Given the description of an element on the screen output the (x, y) to click on. 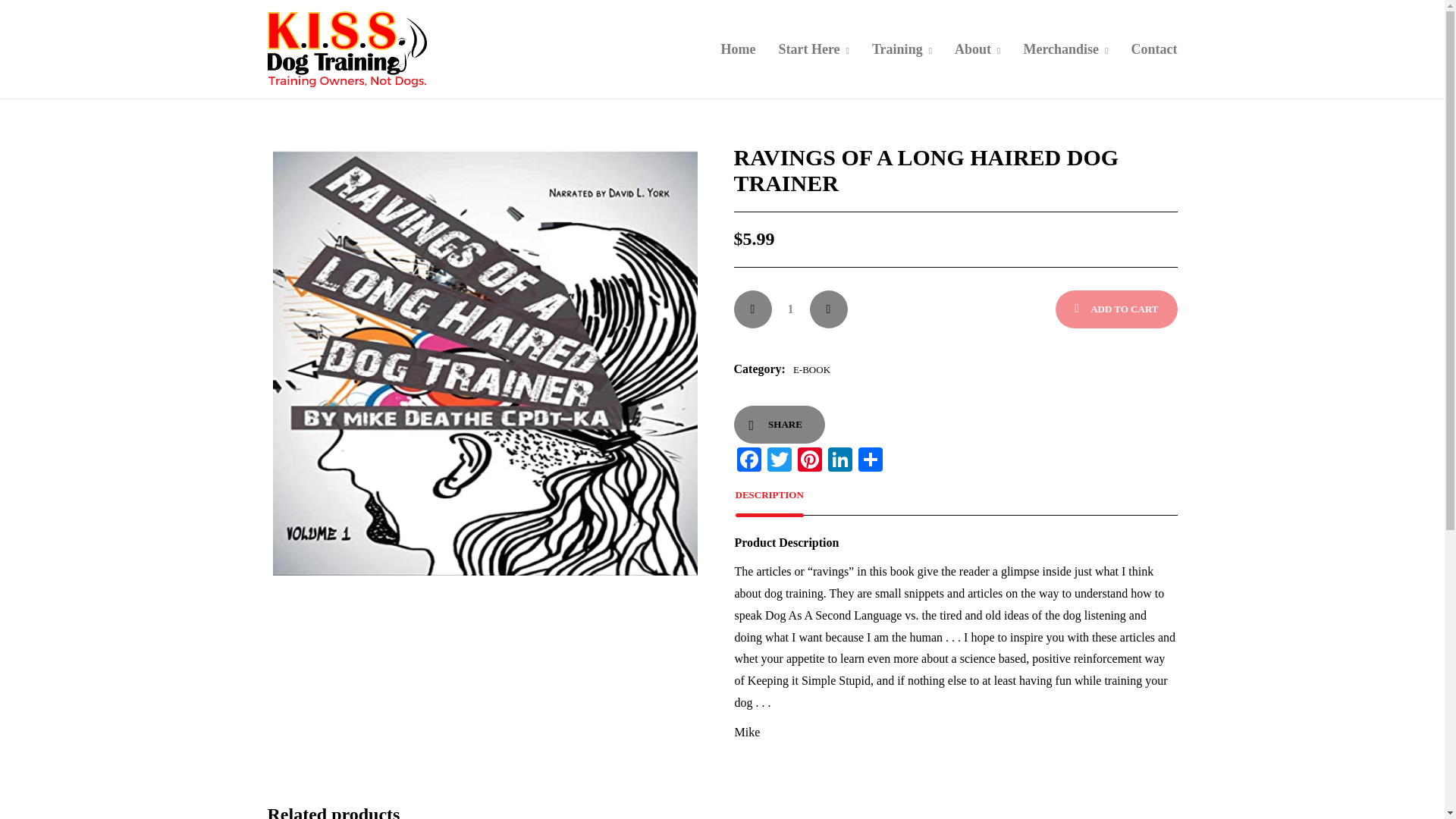
1 (790, 309)
LinkedIn (840, 461)
Twitter (779, 461)
Start Here (812, 48)
Facebook (748, 461)
Pinterest (809, 461)
